Given the description of an element on the screen output the (x, y) to click on. 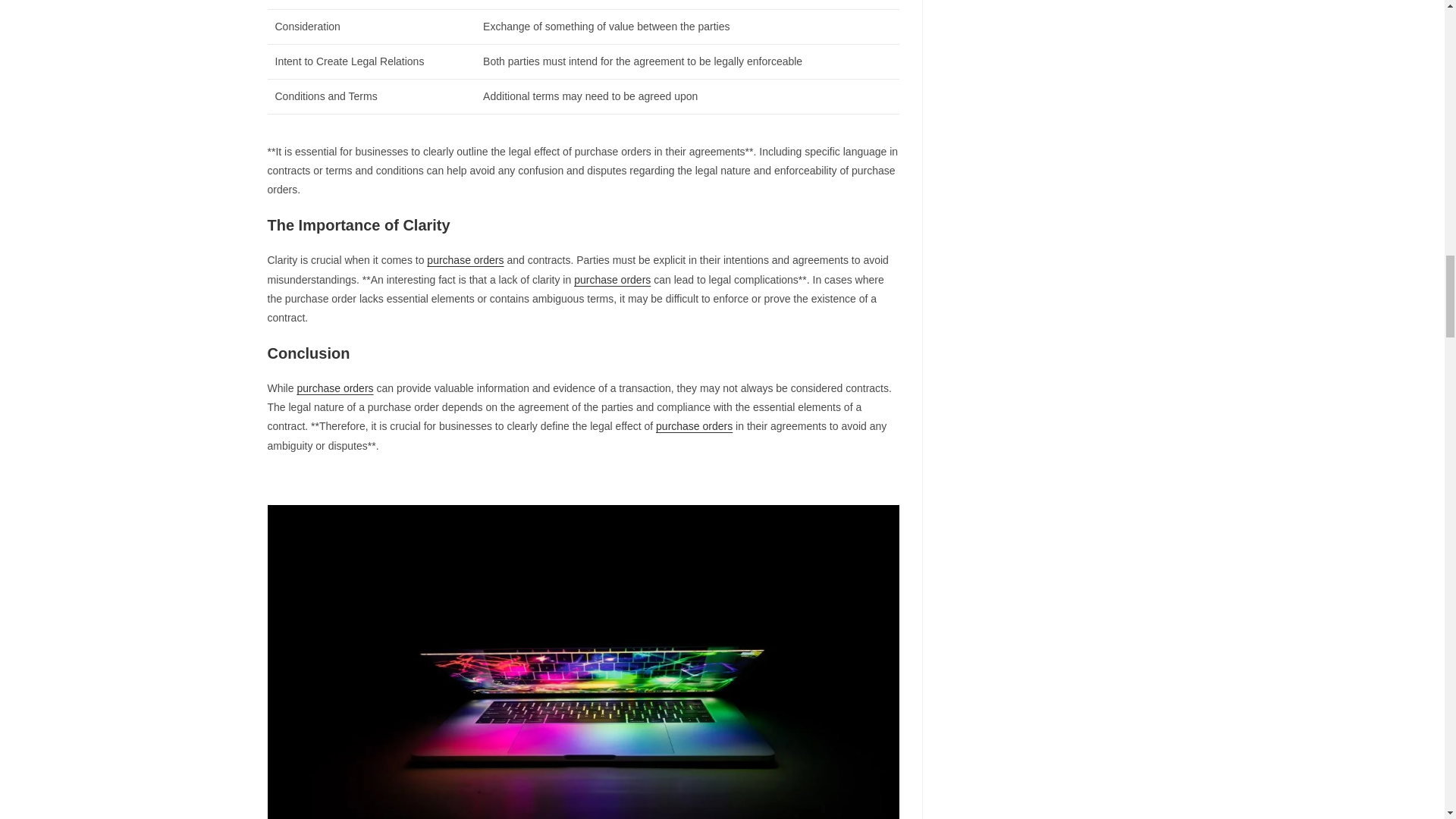
purchase orders (694, 426)
purchase orders (464, 259)
purchase orders (334, 387)
purchase orders (611, 279)
